Given the description of an element on the screen output the (x, y) to click on. 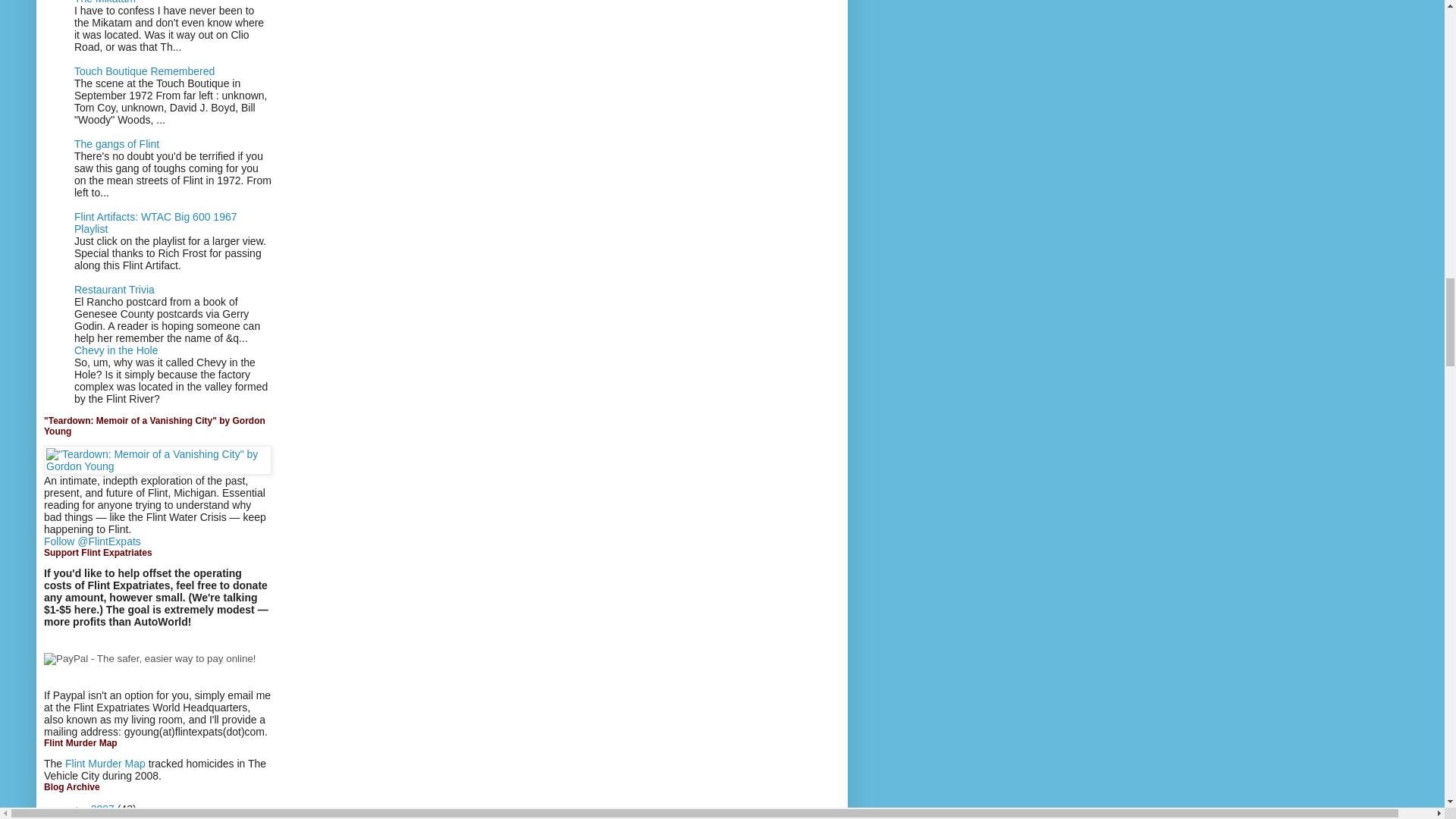
The Mikatam (104, 2)
